Given the description of an element on the screen output the (x, y) to click on. 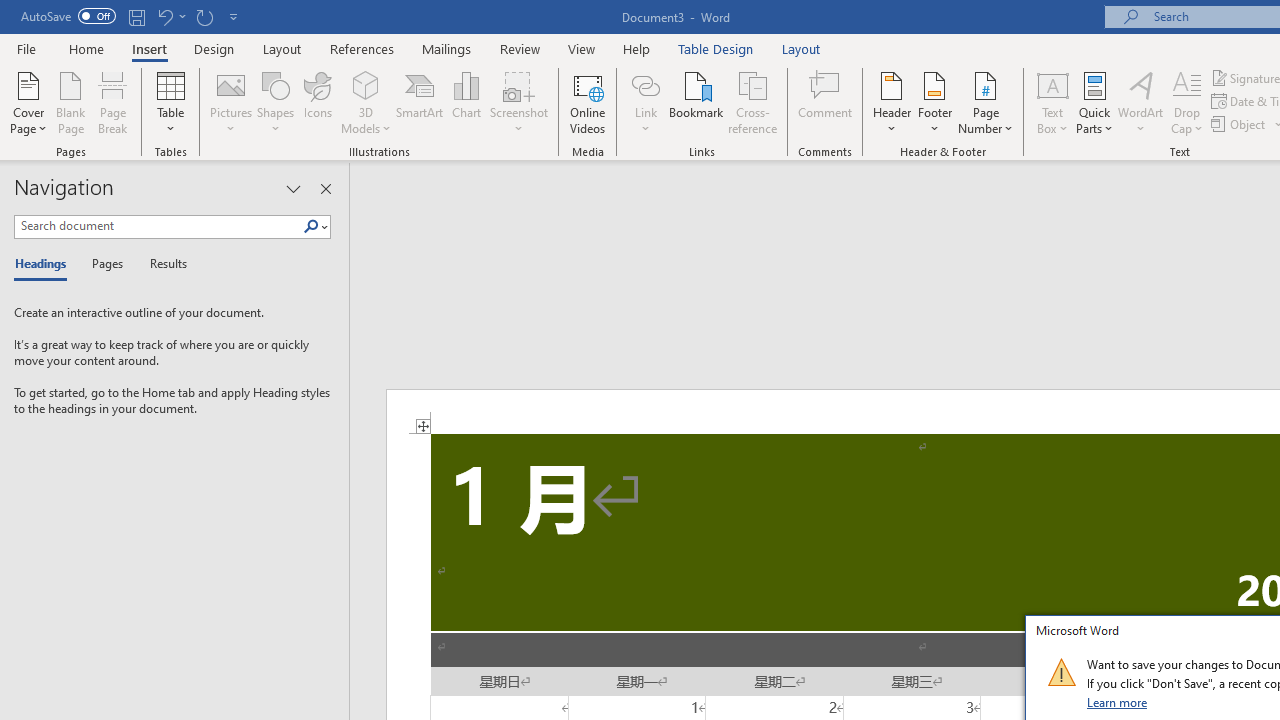
Header (891, 102)
Footer (934, 102)
Pages (105, 264)
Table Design (715, 48)
3D Models (366, 84)
Blank Page (70, 102)
Online Videos... (588, 102)
Pictures (230, 102)
Drop Cap (1187, 102)
